Given the description of an element on the screen output the (x, y) to click on. 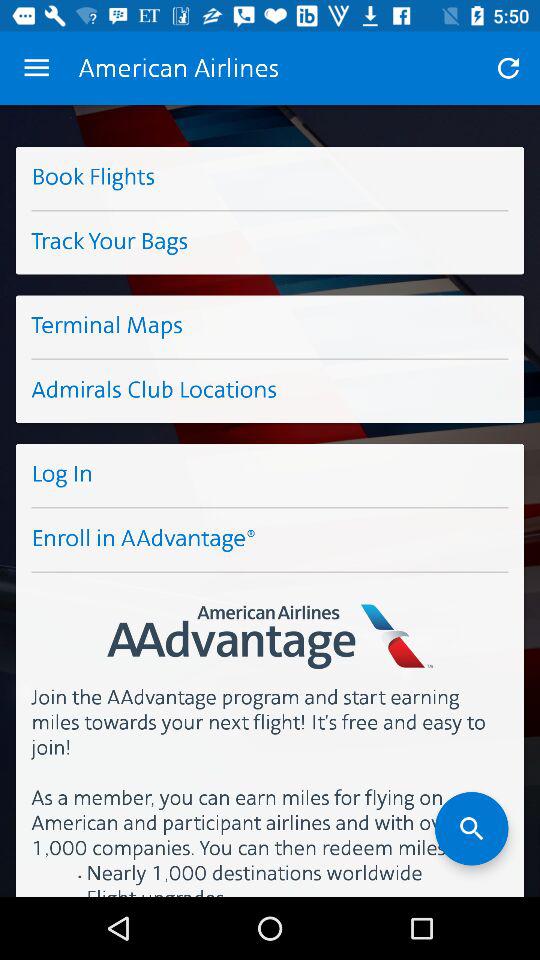
turn off item above log in item (269, 391)
